Given the description of an element on the screen output the (x, y) to click on. 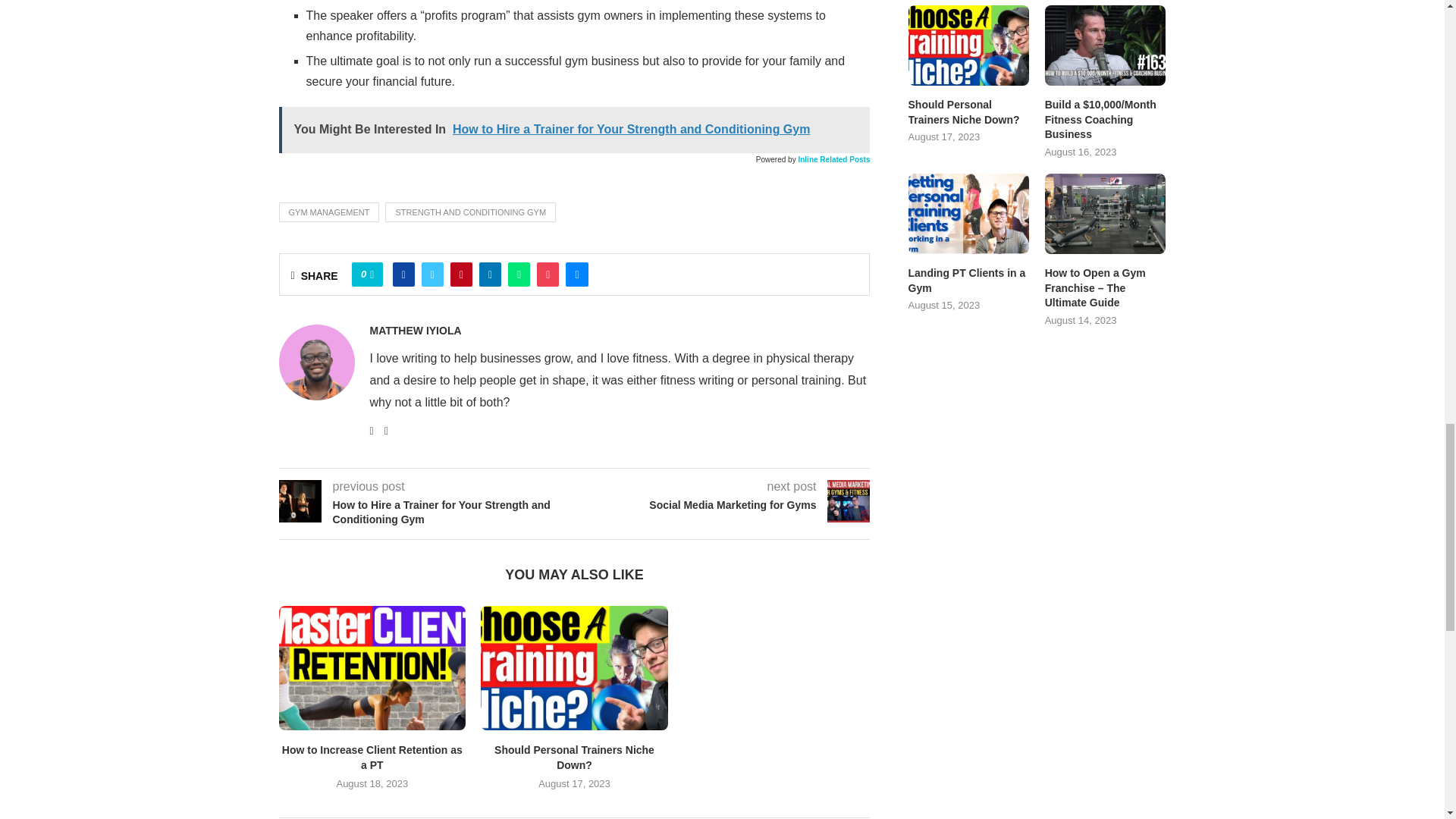
STRENGTH AND CONDITIONING GYM (470, 211)
Should Personal Trainers Niche Down? (574, 668)
Author Matthew Iyiola (415, 330)
Inline Related Posts (833, 159)
GYM MANAGEMENT (329, 211)
How to Increase Client Retention as a PT (372, 668)
